Given the description of an element on the screen output the (x, y) to click on. 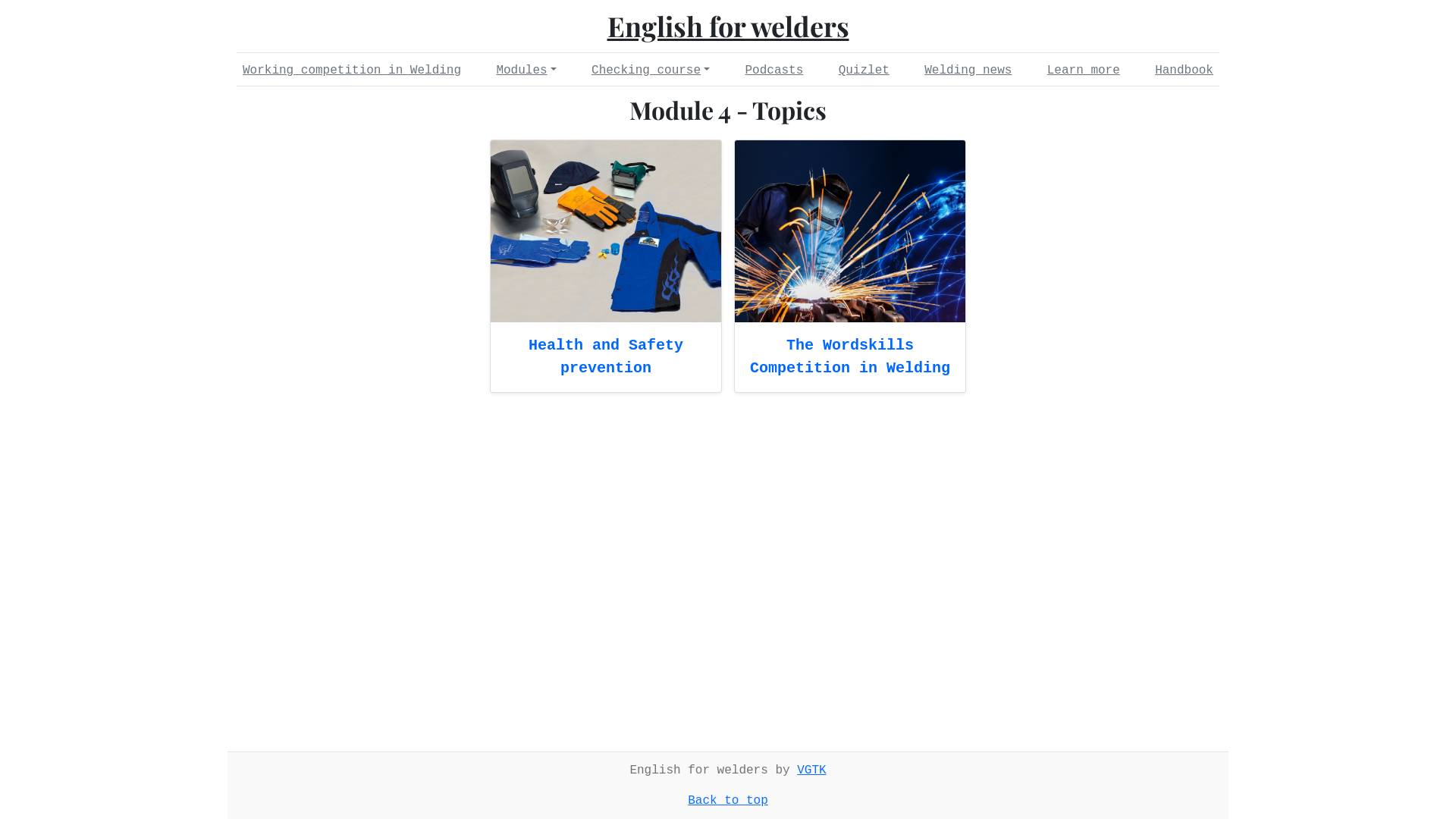
Health and Safety prevention Element type: text (605, 356)
VGTK Element type: text (811, 770)
Modules Element type: text (525, 70)
Back to top Element type: text (727, 800)
Podcasts Element type: text (773, 70)
Working competition in Welding Element type: text (351, 70)
The Wordskills Competition in Welding Element type: text (849, 356)
Learn more Element type: text (1083, 70)
Checking course Element type: text (650, 70)
Handbook Element type: text (1183, 70)
Quizlet Element type: text (863, 70)
English for welders Element type: text (727, 25)
Welding news Element type: text (967, 70)
